Given the description of an element on the screen output the (x, y) to click on. 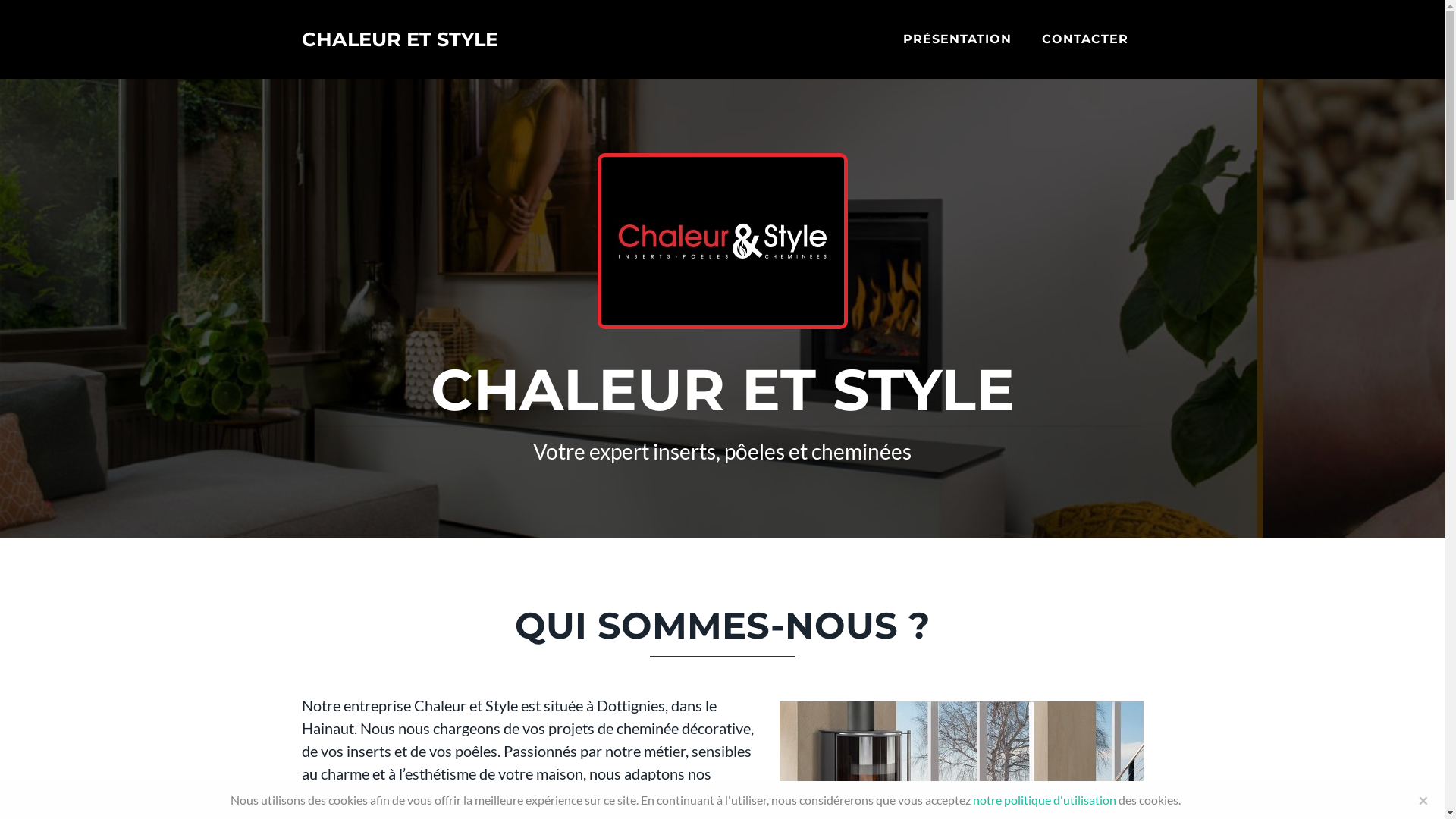
CHALEUR ET STYLE Element type: text (399, 39)
notre politique d'utilisation Element type: text (1044, 799)
CONTACTER Element type: text (1084, 39)
